Given the description of an element on the screen output the (x, y) to click on. 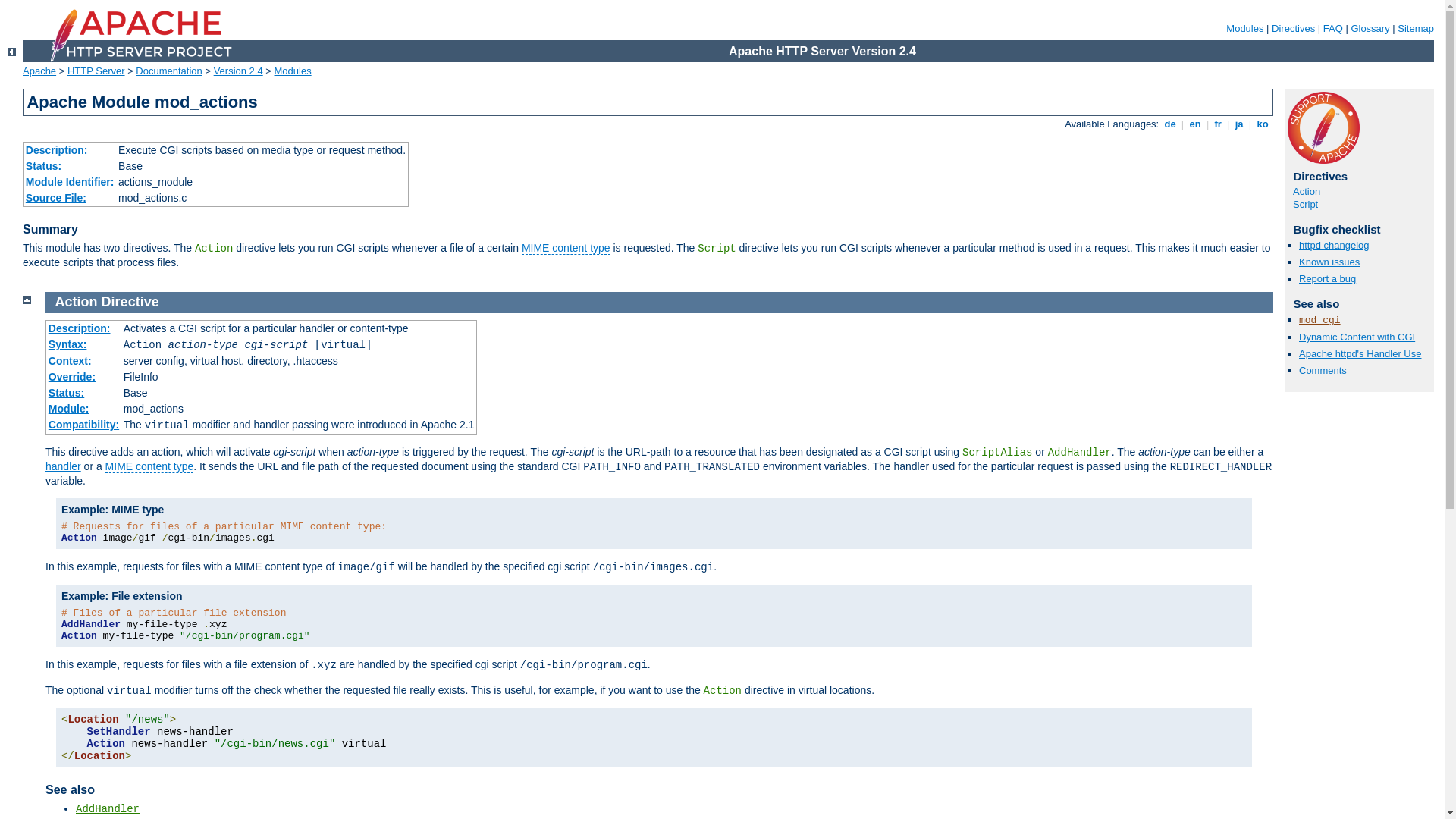
Directive Element type: text (130, 301)
Syntax: Element type: text (67, 344)
ScriptAlias Element type: text (997, 452)
AddHandler Element type: text (107, 809)
 ko  Element type: text (1262, 123)
<- Element type: hover (11, 51)
Description: Element type: text (79, 328)
Script Element type: text (716, 248)
Apache Element type: text (39, 70)
MIME content type Element type: text (149, 466)
Known issues Element type: text (1329, 261)
Description: Element type: text (56, 150)
mod_cgi Element type: text (1319, 320)
Status: Element type: text (43, 166)
Directives Element type: text (1292, 28)
Action Element type: text (76, 301)
Module: Element type: text (68, 408)
Compatibility: Element type: text (83, 424)
 de  Element type: text (1169, 123)
Apache httpd's Handler Use Element type: text (1360, 353)
AddHandler Element type: text (1079, 452)
Report a bug Element type: text (1327, 278)
Source File: Element type: text (55, 197)
Sitemap Element type: text (1415, 28)
Module Identifier: Element type: text (69, 181)
Comments Element type: text (1322, 370)
Glossary Element type: text (1369, 28)
Script Element type: text (1304, 204)
Dynamic Content with CGI Element type: text (1357, 336)
MIME content type Element type: text (565, 247)
Version 2.4 Element type: text (238, 70)
Status: Element type: text (66, 392)
FAQ Element type: text (1333, 28)
httpd changelog Element type: text (1334, 245)
Modules Element type: text (292, 70)
Override: Element type: text (71, 376)
Documentation Element type: text (168, 70)
Action Element type: text (1306, 191)
Modules Element type: text (1244, 28)
HTTP Server Element type: text (96, 70)
handler Element type: text (63, 466)
Action Element type: text (213, 248)
 ja  Element type: text (1238, 123)
 fr  Element type: text (1217, 123)
 en  Element type: text (1194, 123)
Context: Element type: text (69, 360)
